Given the description of an element on the screen output the (x, y) to click on. 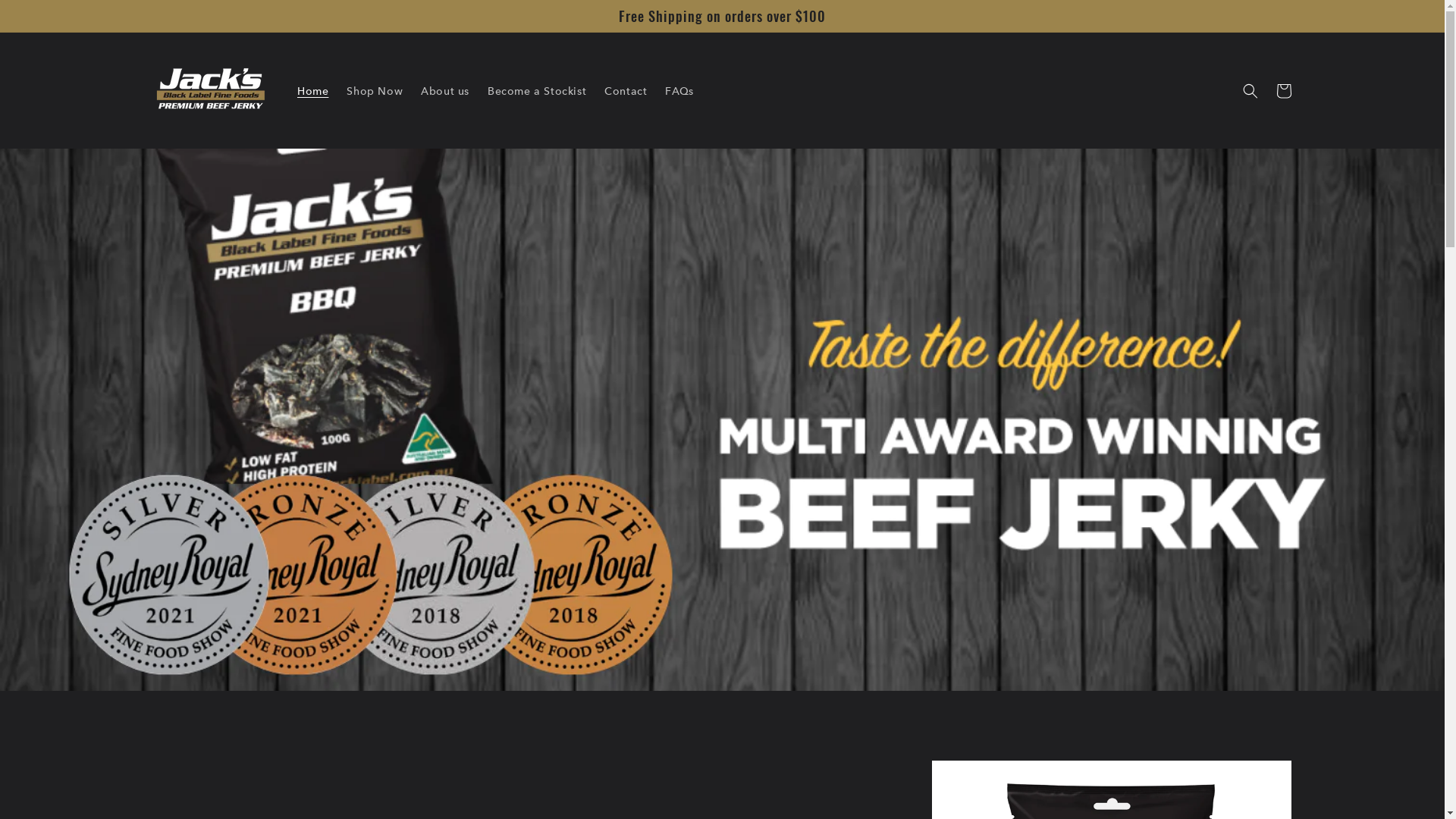
Become a Stockist Element type: text (536, 90)
Shop Now Element type: text (374, 90)
FAQs Element type: text (678, 90)
About us Element type: text (444, 90)
Cart Element type: text (1282, 90)
Contact Element type: text (625, 90)
Home Element type: text (312, 90)
